Given the description of an element on the screen output the (x, y) to click on. 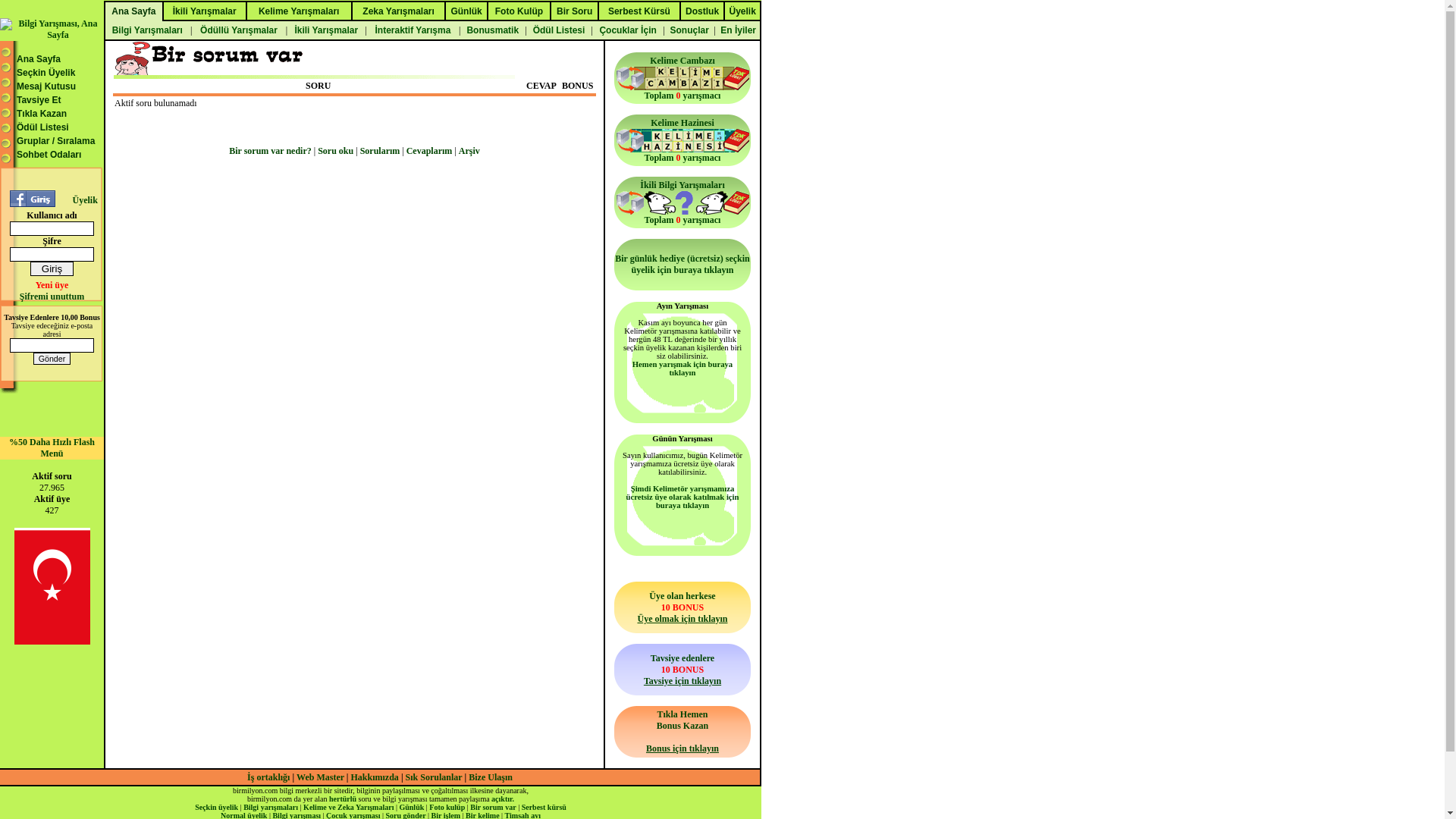
Dostluk Element type: text (702, 11)
Soru oku Element type: text (335, 150)
Bir sorum var nedir? Element type: text (270, 150)
Tavsiye Et Element type: text (38, 99)
Bir Soru Element type: text (574, 11)
Mesaj Kutusu Element type: text (45, 86)
Web Master Element type: text (321, 776)
Bonusmatik Element type: text (492, 30)
Ana Sayfa Element type: text (38, 58)
Ana Sayfa Element type: text (133, 11)
Bir sorum var Element type: text (492, 807)
